Given the description of an element on the screen output the (x, y) to click on. 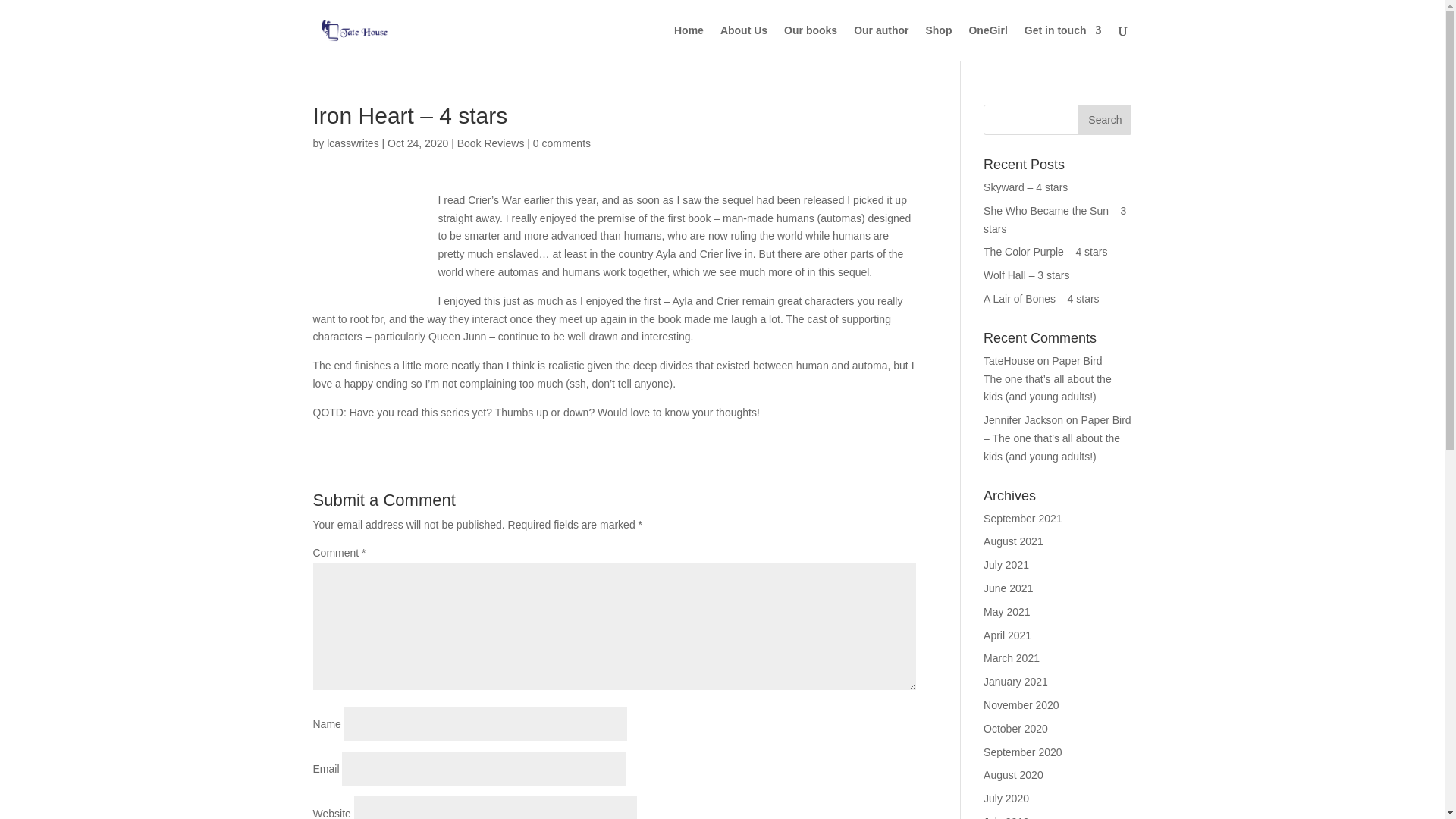
October 2020 (1016, 728)
Book Reviews (490, 143)
June 2021 (1008, 588)
April 2021 (1007, 635)
September 2021 (1023, 518)
0 comments (561, 143)
Search (1104, 119)
July 2019 (1006, 817)
August 2020 (1013, 775)
September 2020 (1023, 752)
